Given the description of an element on the screen output the (x, y) to click on. 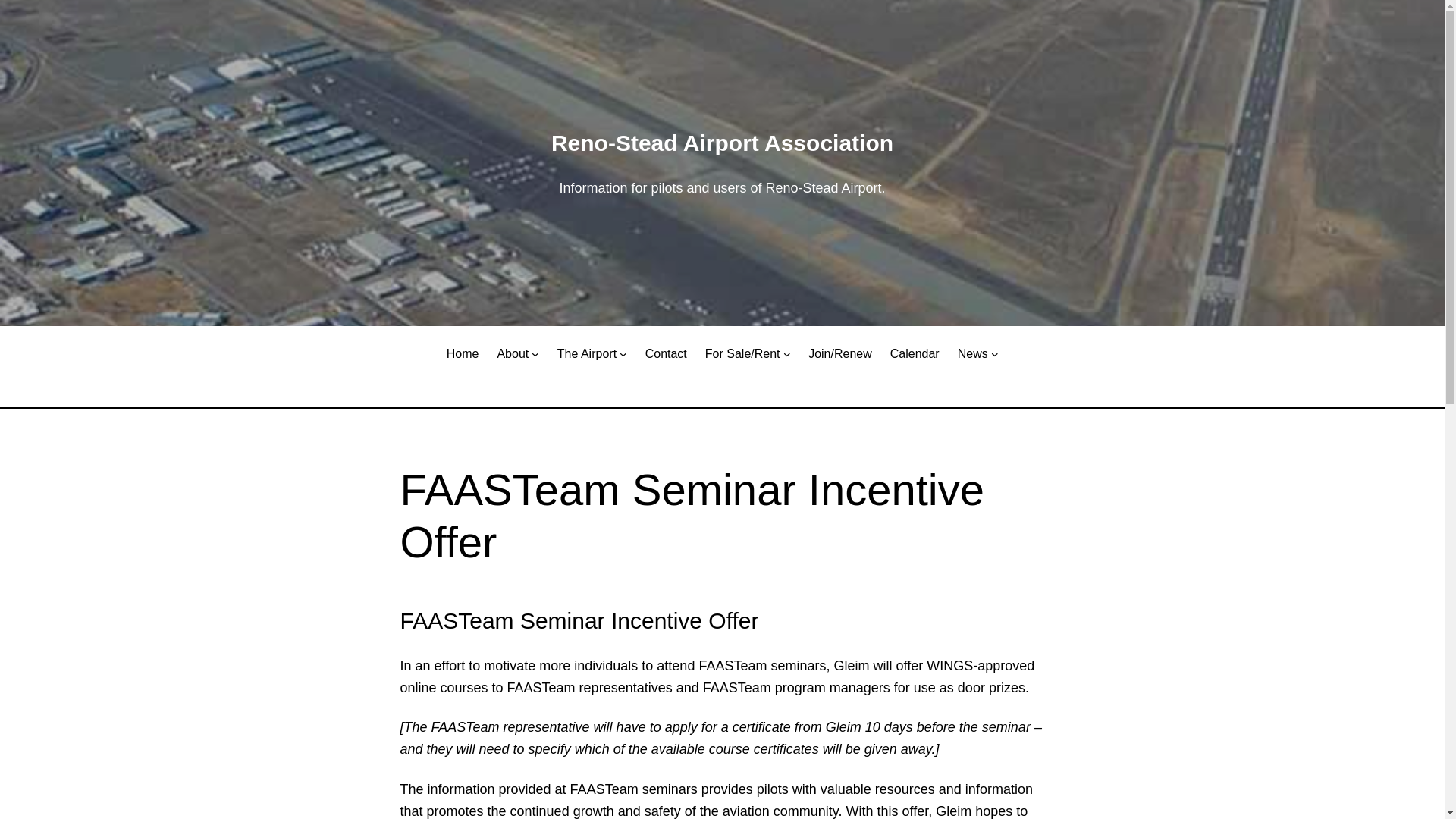
Reno-Stead Airport Association (722, 142)
Home (462, 353)
About (512, 353)
Contact (666, 353)
The Airport (586, 353)
